Given the description of an element on the screen output the (x, y) to click on. 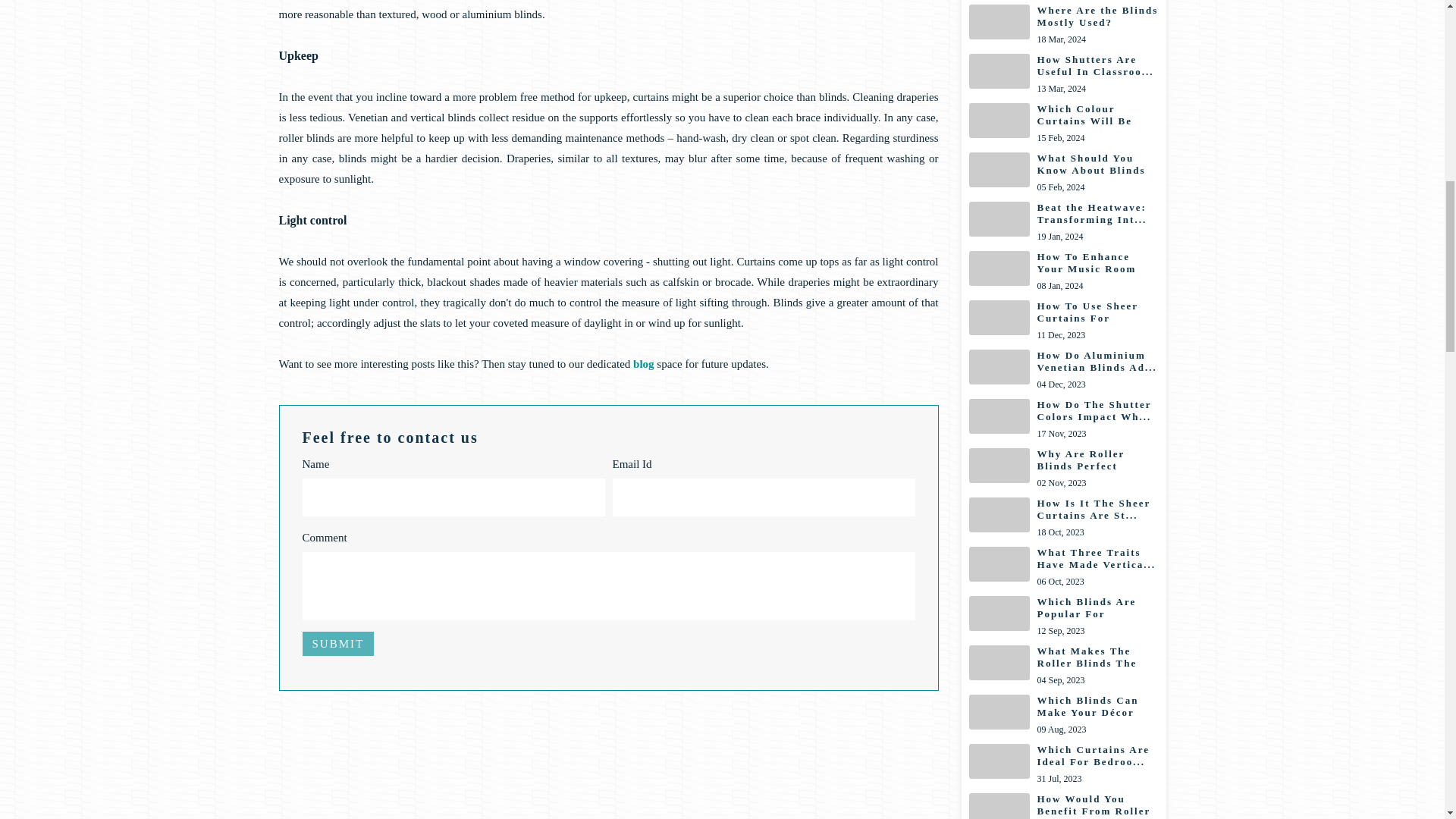
How Shutters Are Useful In Classrooms? (1063, 74)
SUBMIT (337, 643)
How To Use Sheer Curtains For Enhancing Your Home? (1063, 321)
How Do Aluminium Venetian Blinds Add Privacy To Homes? (1063, 370)
blog (1063, 74)
Which Colour Curtains Will Be Suitable For Pink Walls? (1063, 271)
